Given the description of an element on the screen output the (x, y) to click on. 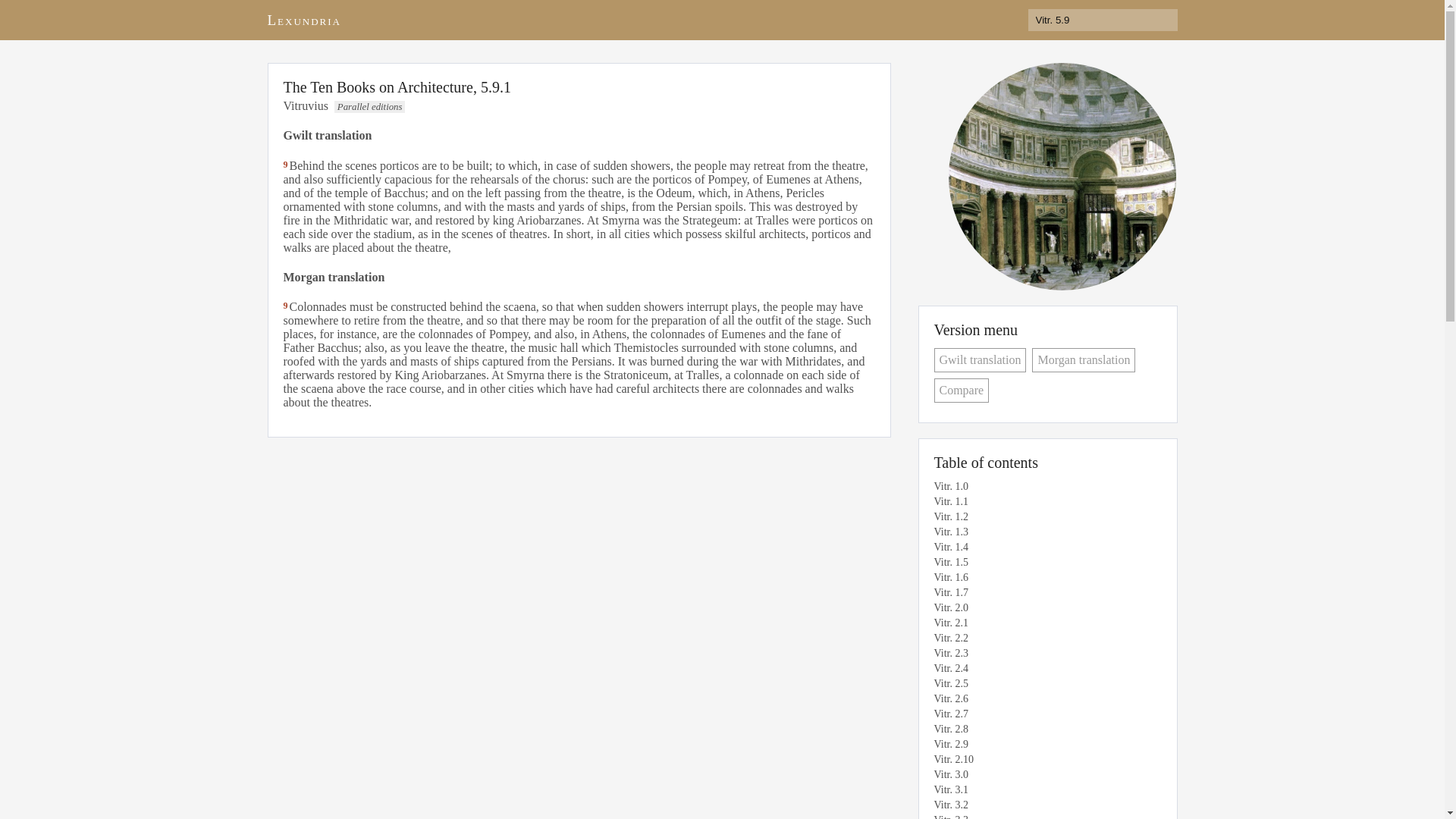
Vitr. 1.5 (1040, 562)
Vitr. 2.8 (1040, 729)
Morgan translation (1083, 360)
Vitr. 1.2 (1040, 516)
Vitr. 2.1 (1040, 622)
Vitr. 3.1 (1040, 789)
On Architecture (1060, 176)
Vitr. 3.2 (1040, 805)
Vitr. 2.7 (1040, 713)
Vitr. 2.5 (1040, 683)
Vitr. 3.0 (1040, 774)
Vitr. 1.0 (1040, 486)
Vitr. 1.3 (1040, 531)
Compare (962, 390)
Vitr. 5.9 (1102, 20)
